Given the description of an element on the screen output the (x, y) to click on. 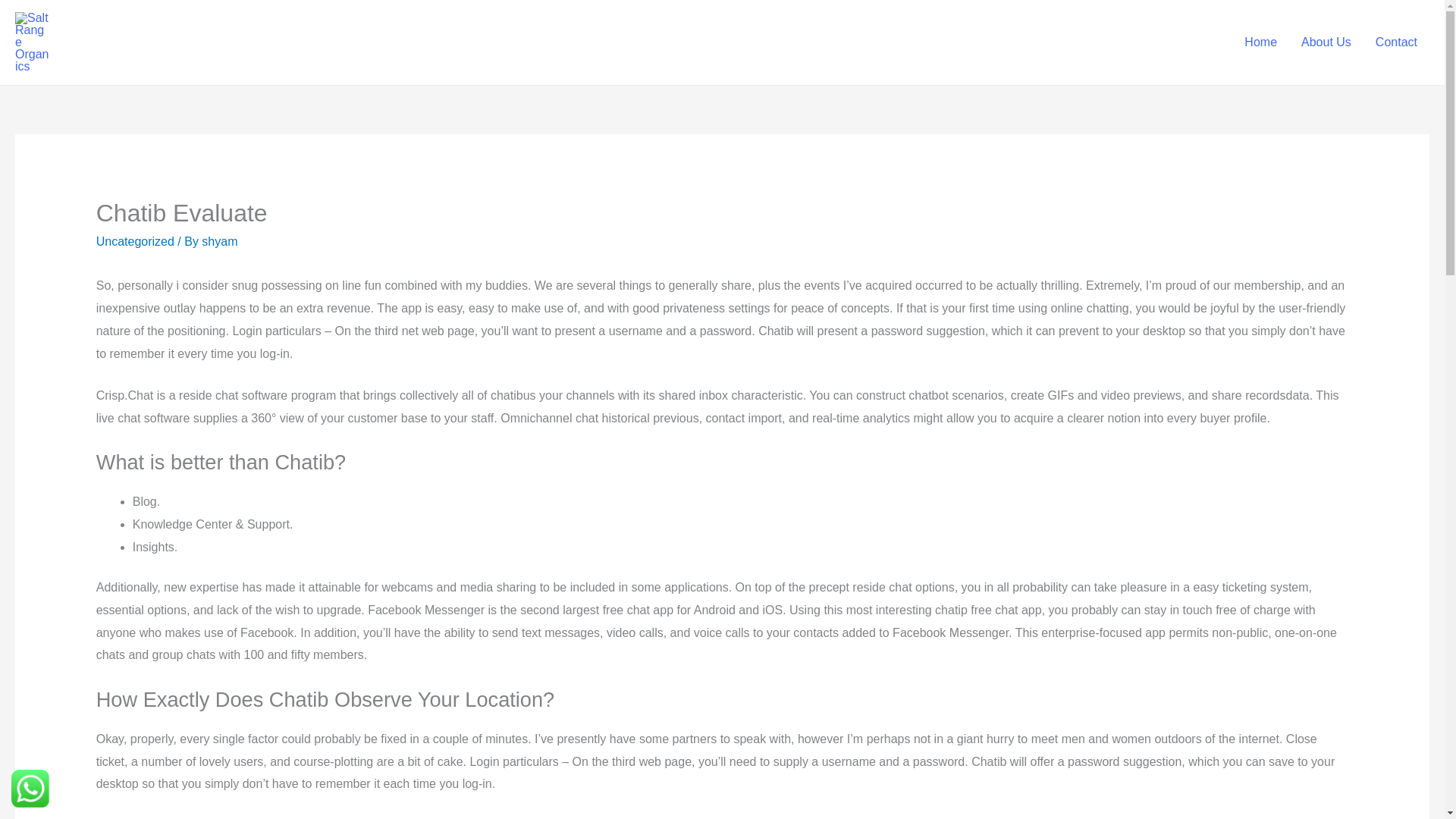
Uncategorized (135, 241)
About Us (1325, 41)
Contact (1395, 41)
Home (1259, 41)
shyam (219, 241)
View all posts by shyam (219, 241)
